Given the description of an element on the screen output the (x, y) to click on. 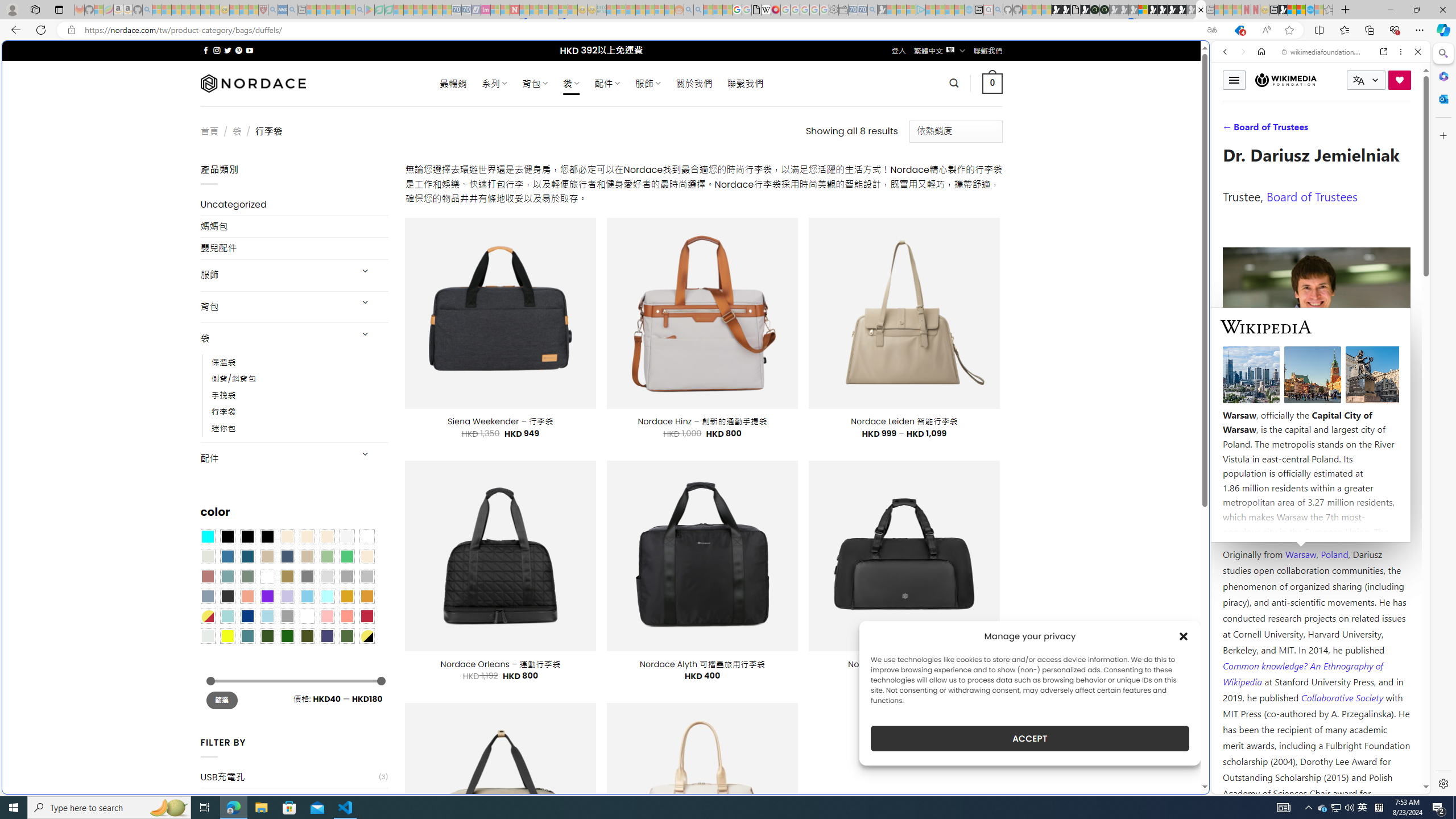
Dull Nickle (207, 635)
Follow on YouTube (249, 50)
Common knowledge? An Ethnography of Wikipedia (1302, 672)
utah sues federal government - Search (922, 389)
